Given the description of an element on the screen output the (x, y) to click on. 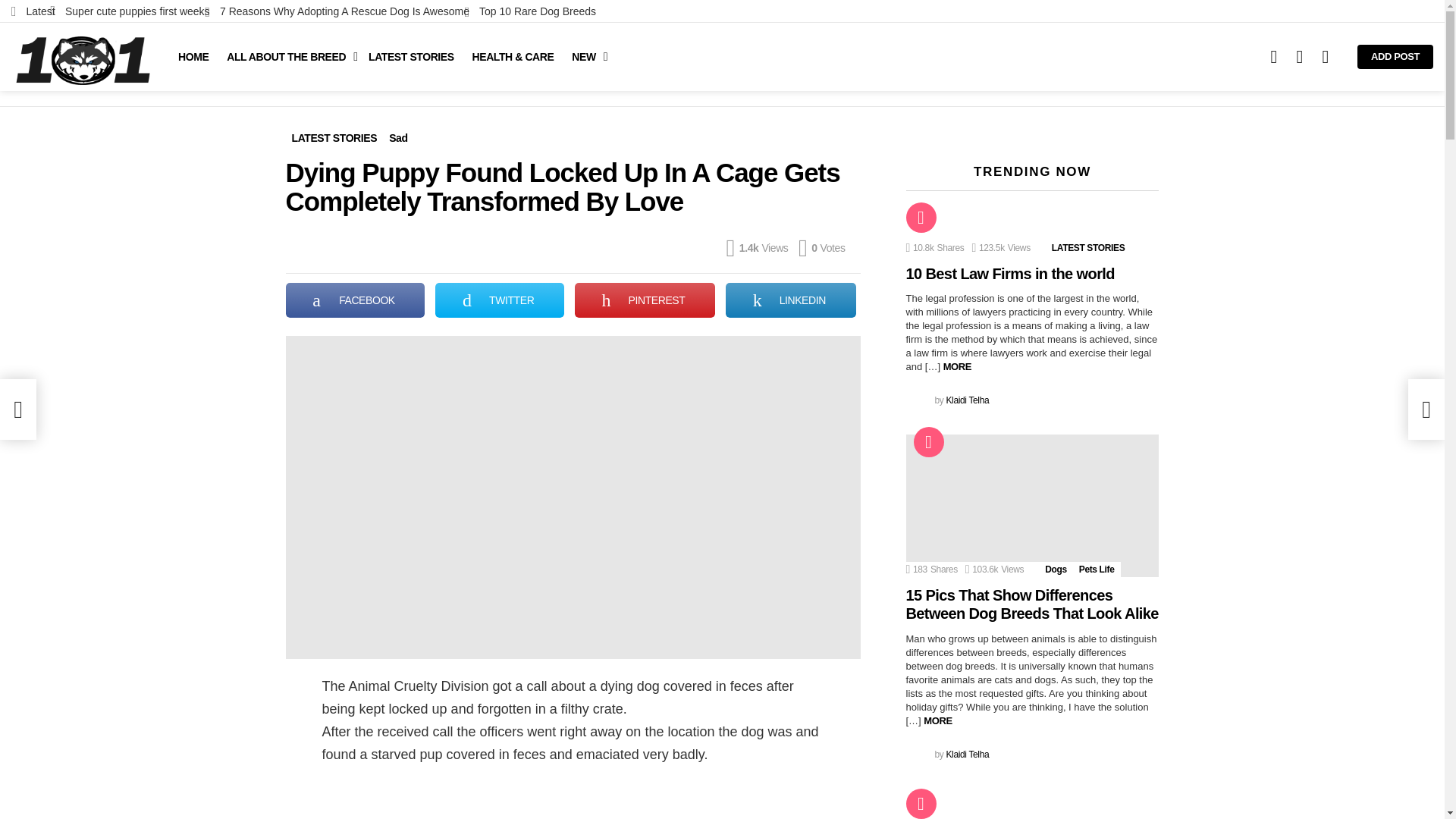
HOME (192, 56)
ALL ABOUT THE BREED (288, 56)
Share on Twitter (499, 299)
Share on Facebook (355, 299)
LATEST STORIES (411, 56)
NEW (585, 56)
Share on Pinterest (644, 299)
Top 10 Rare Dog Breeds (529, 10)
7 Reasons Why Adopting A Rescue Dog Is Awesome (336, 10)
Super cute puppies first weeks (129, 10)
